Given the description of an element on the screen output the (x, y) to click on. 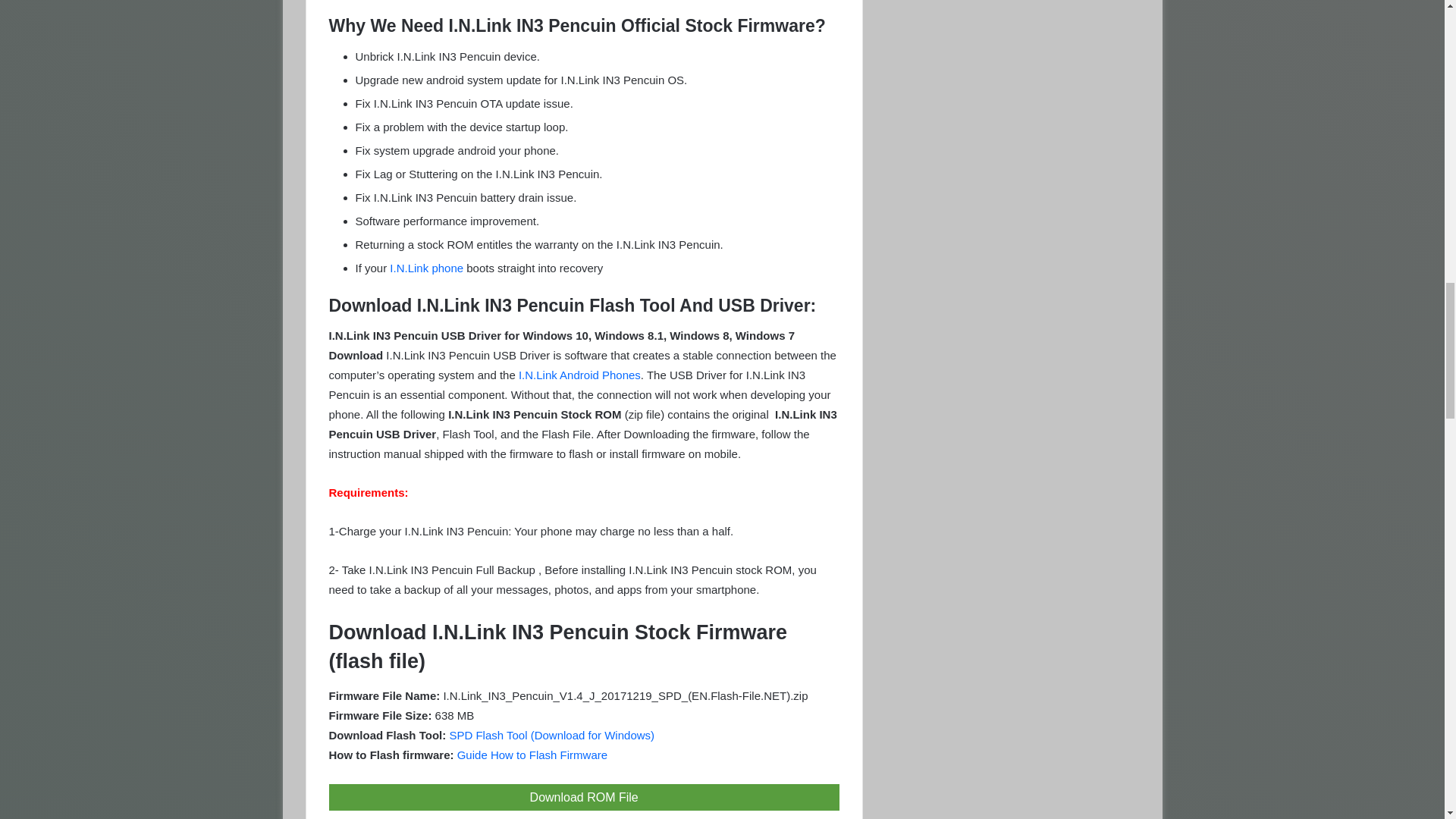
Download ROM File (584, 796)
I.N.Link phone (426, 267)
Guide How to Flash Firmware (532, 754)
I.N.Link Android Phones (579, 374)
